Given the description of an element on the screen output the (x, y) to click on. 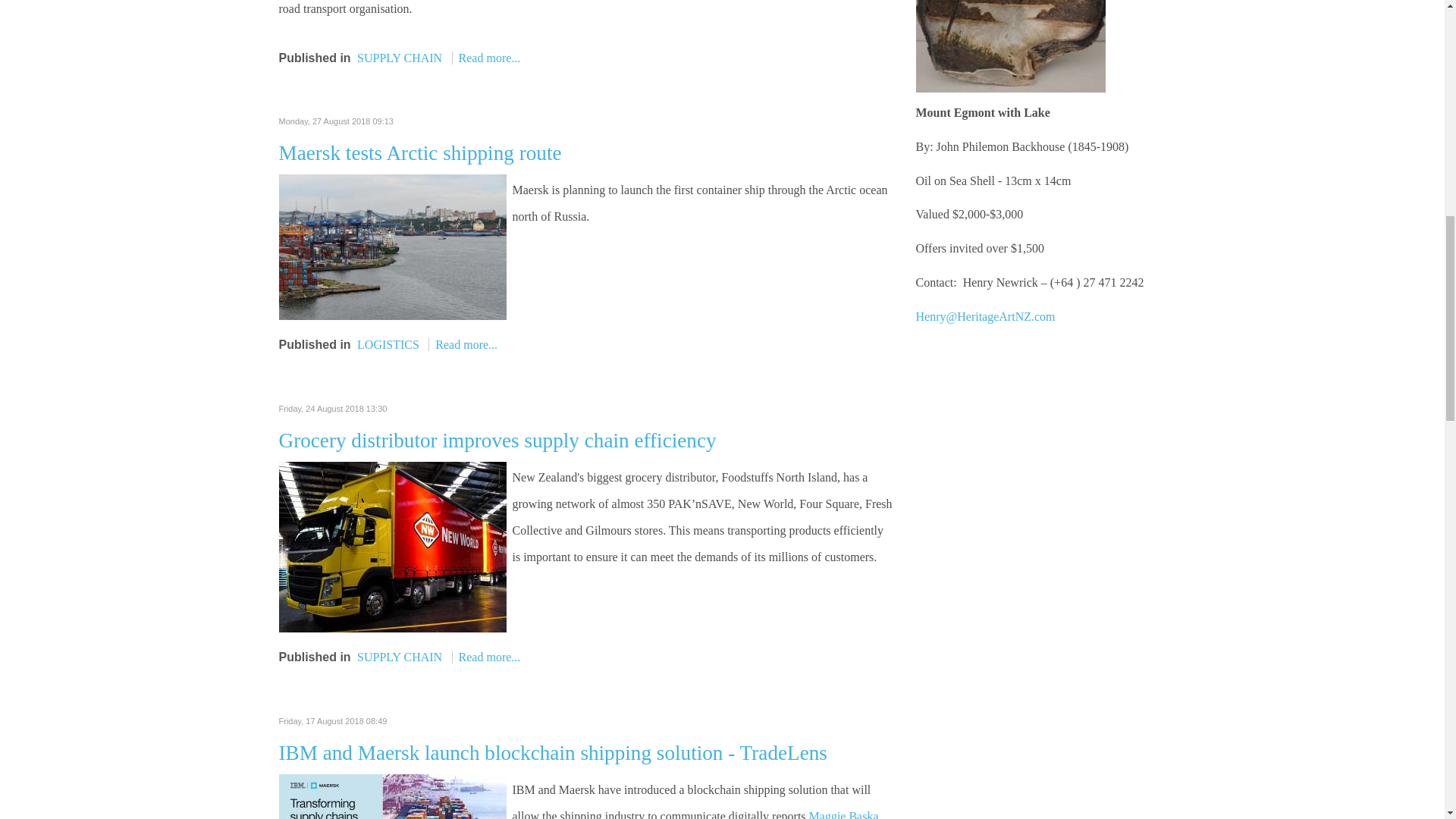
Maersk tests Arctic shipping route (392, 245)
Grocery distributor improves supply chain efficiency (392, 545)
